Given the description of an element on the screen output the (x, y) to click on. 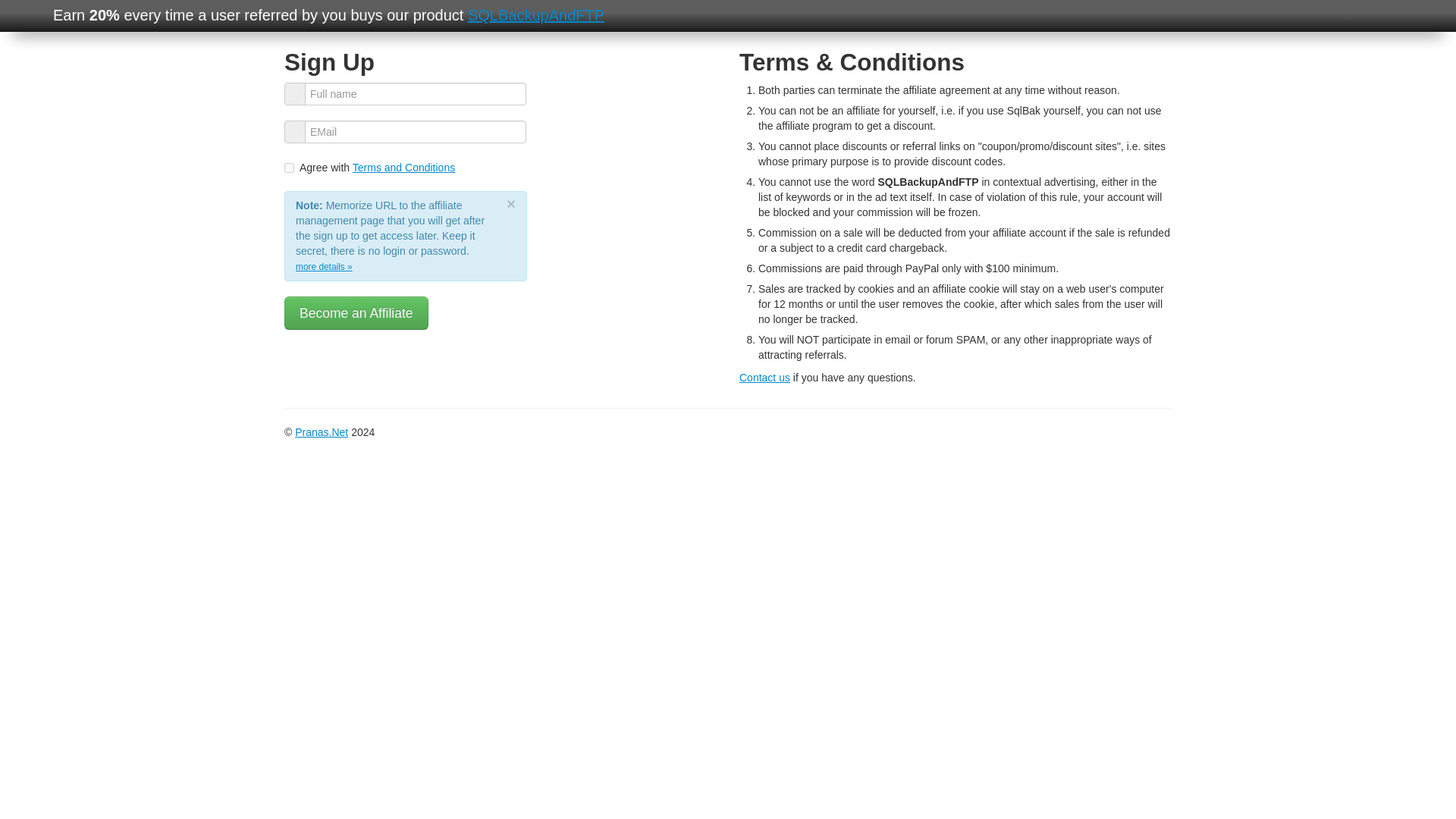
Contact us (764, 377)
Become an Affiliate (355, 313)
true (288, 167)
SQLBackupAndFTP (535, 14)
Pranas.Net (321, 431)
Terms and Conditions (403, 167)
